Given the description of an element on the screen output the (x, y) to click on. 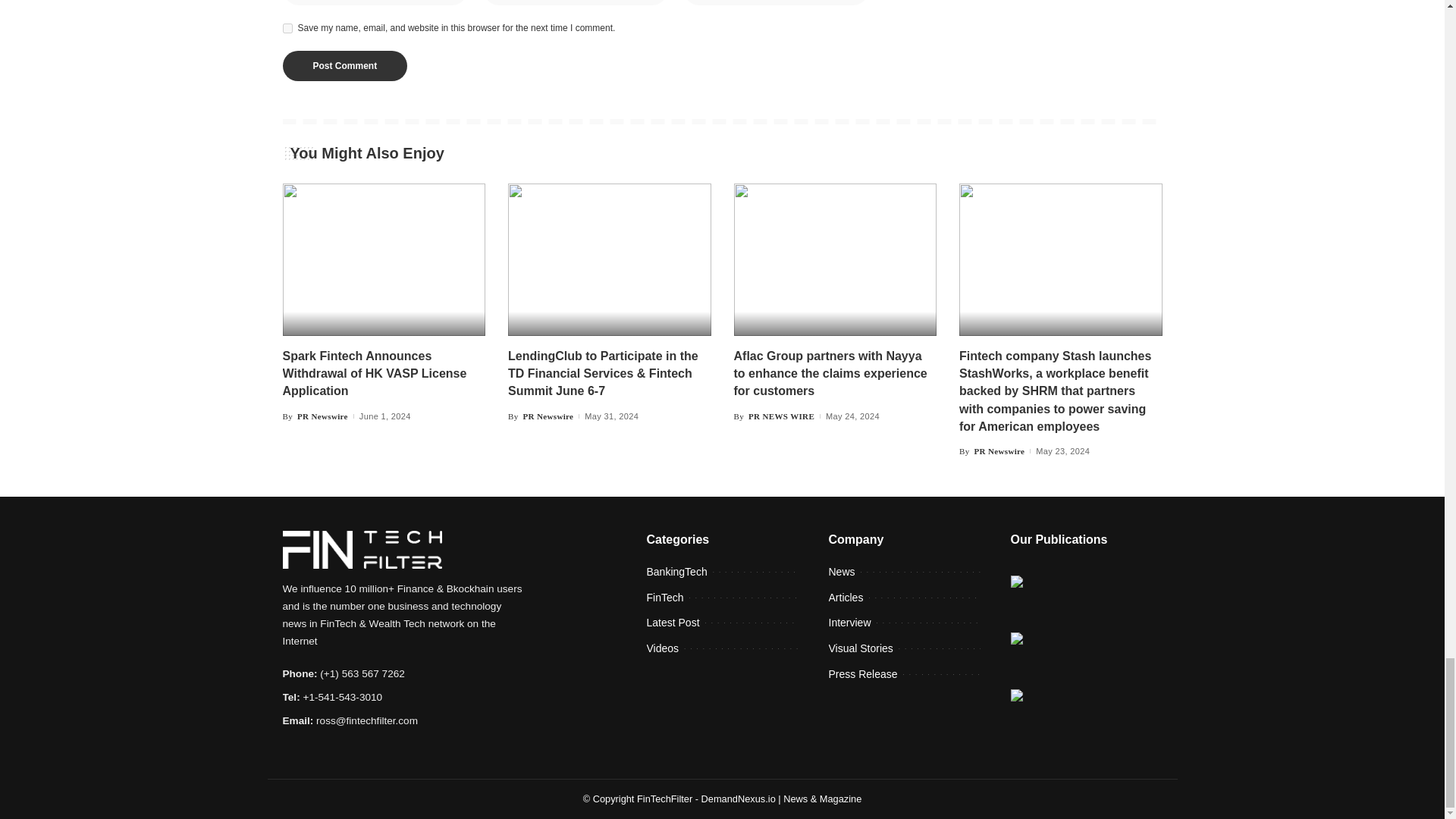
yes (287, 28)
Post Comment (344, 65)
